Given the description of an element on the screen output the (x, y) to click on. 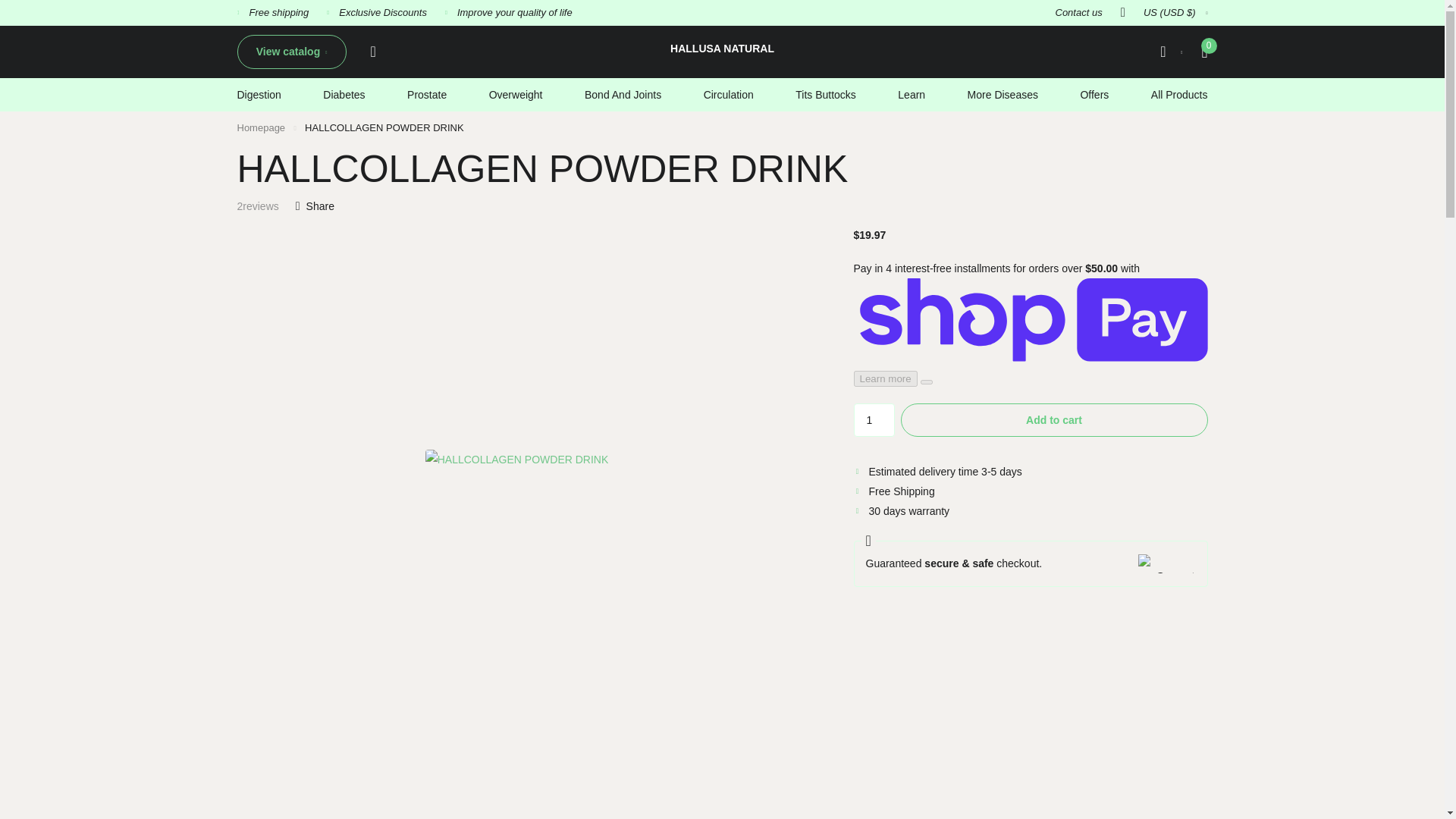
View catalog (290, 51)
1 (874, 420)
Contact us (1078, 12)
Prostate (426, 94)
Diabetes (344, 94)
Digestion (258, 94)
Home (260, 127)
